Given the description of an element on the screen output the (x, y) to click on. 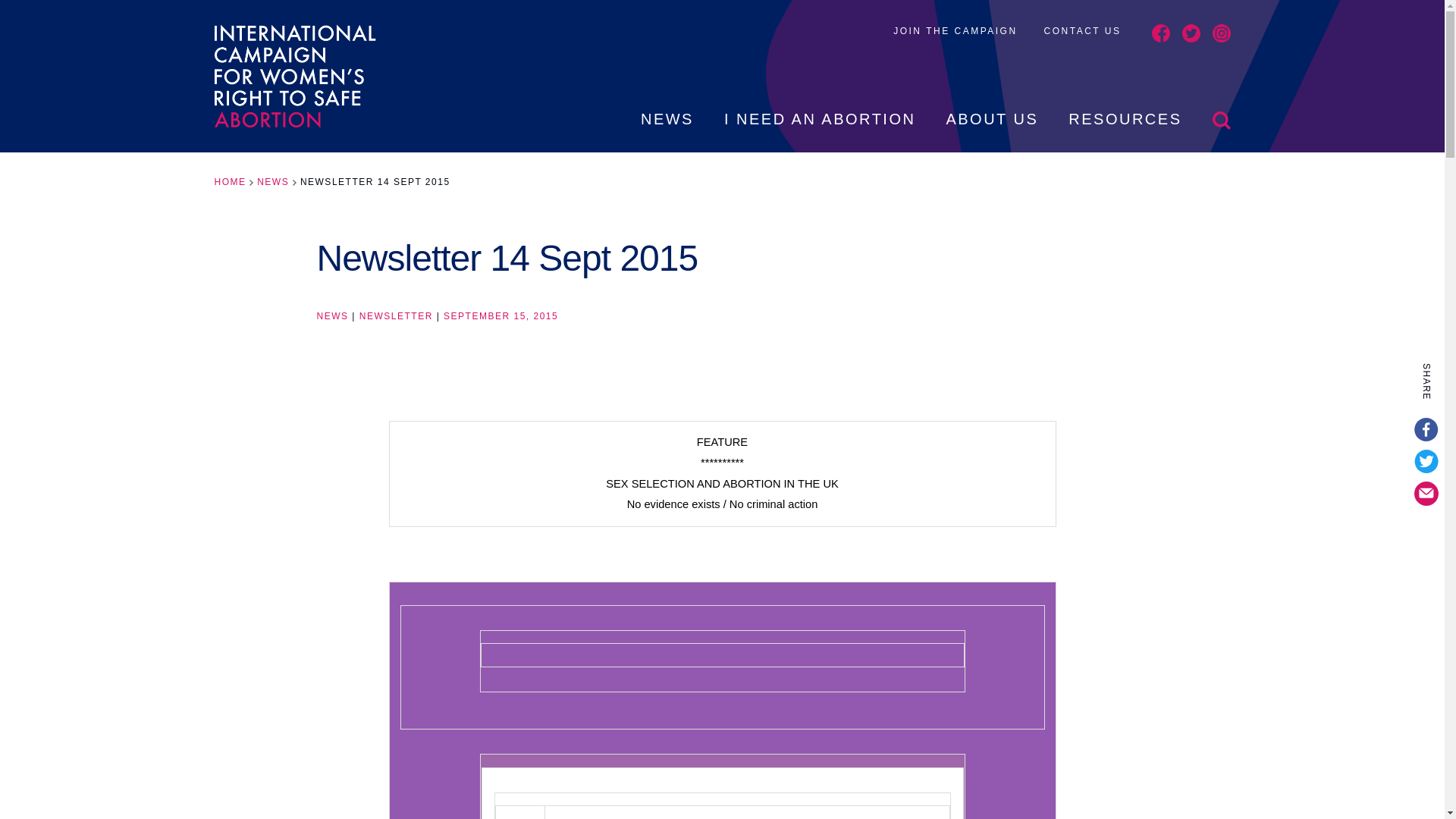
SEARCH THIS SITE (1220, 131)
I NEED AN ABORTION (819, 131)
NEWS (272, 181)
RESOURCES (1124, 131)
Share to Twitter (1425, 461)
CONTACT US (1082, 30)
HOME (230, 181)
JOIN THE CAMPAIGN (954, 30)
Share to Email (1425, 493)
Share to Facebook (1425, 429)
ABOUT US (991, 131)
NEWS (667, 131)
